Given the description of an element on the screen output the (x, y) to click on. 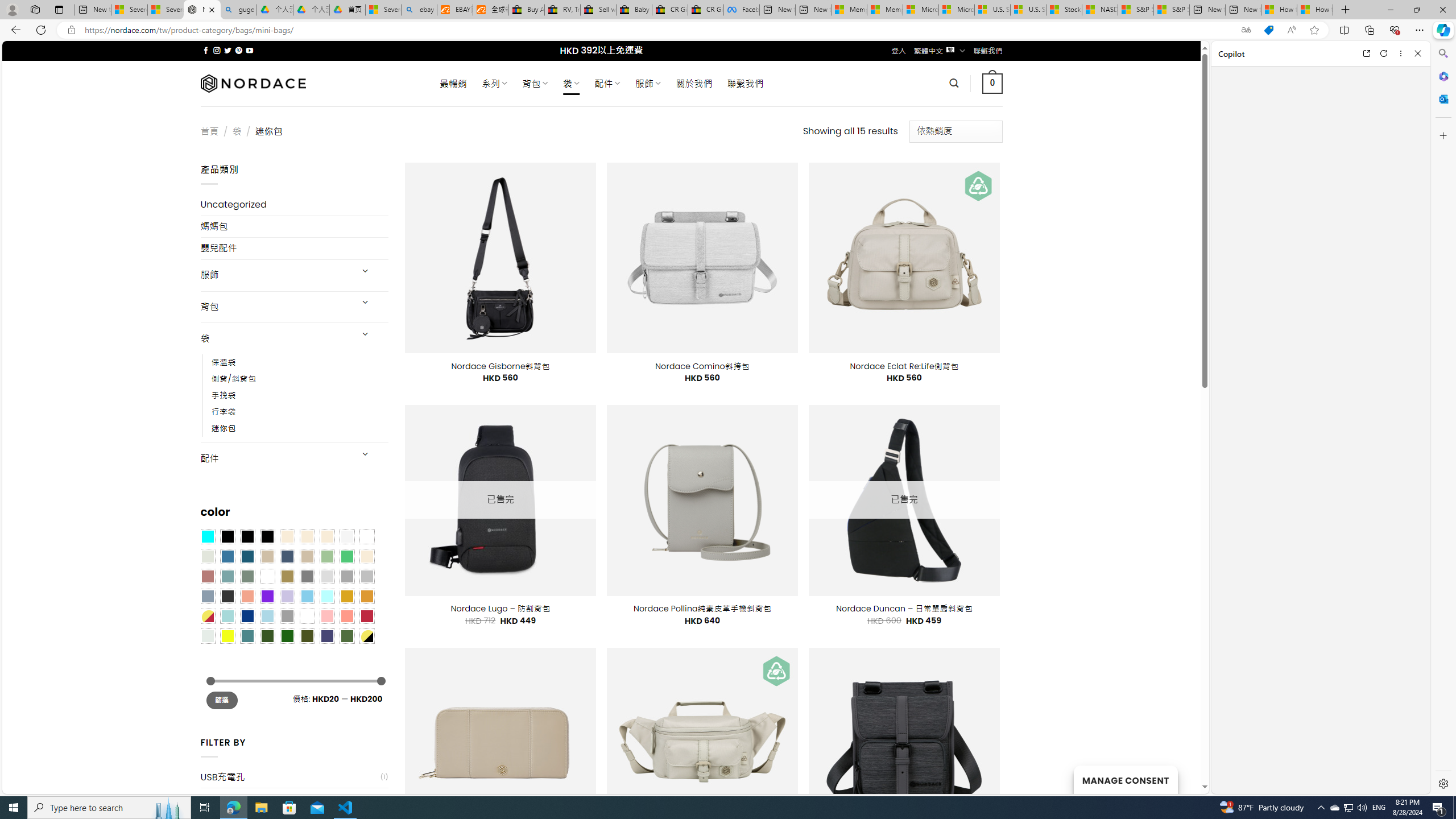
Customize (1442, 135)
